Given the description of an element on the screen output the (x, y) to click on. 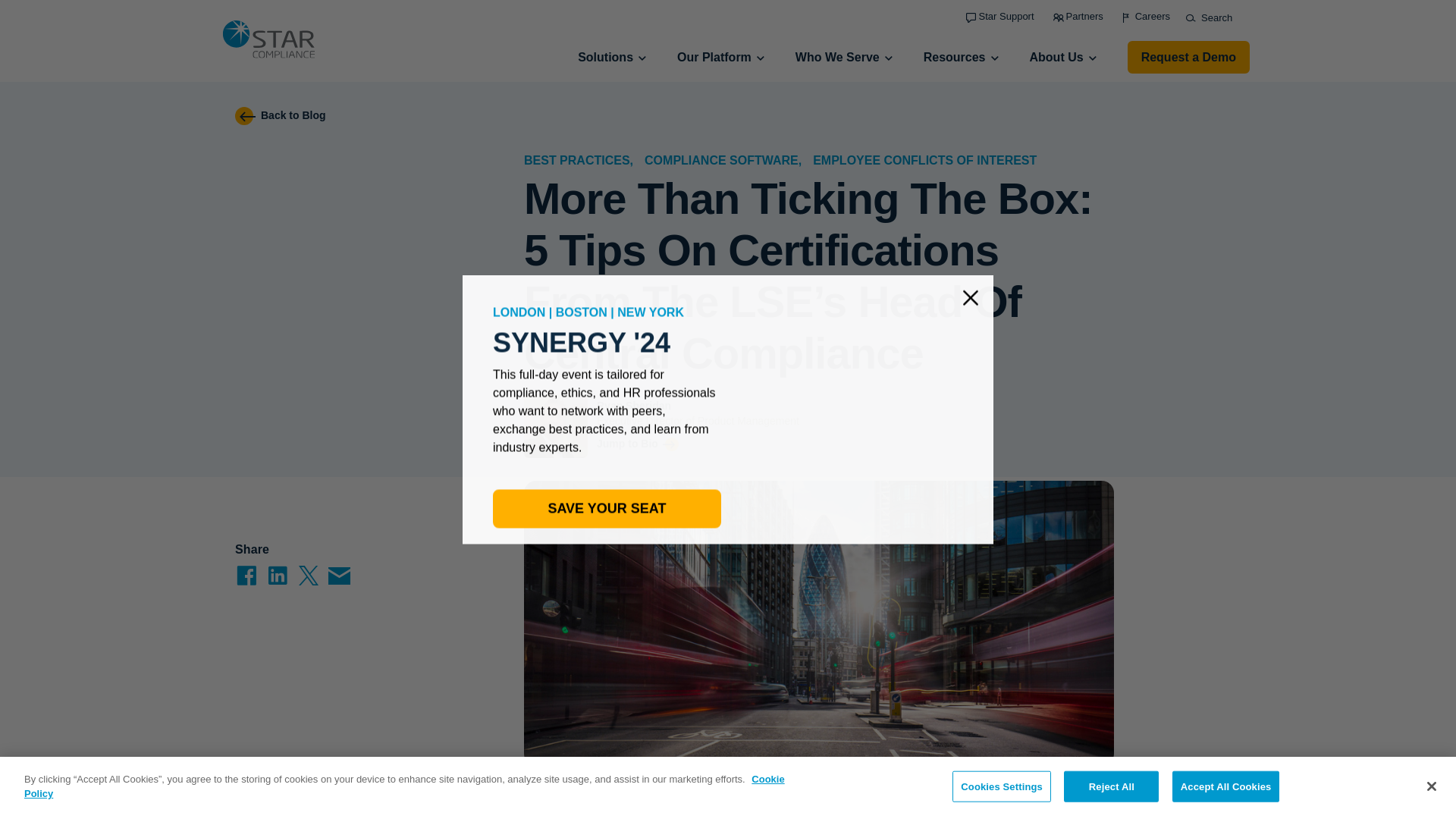
BACK (341, 115)
Private Investments (348, 276)
Employee Training (579, 187)
Share via Email (339, 575)
Policy Management (579, 164)
Political Donations (348, 346)
Insider Trading Detection (351, 371)
Employee Conflicts of Interest (381, 206)
Careers (1146, 16)
Crypto Pre-Clearance (348, 252)
Star Support (999, 16)
BACK (579, 132)
Individual Accountability Regime (832, 140)
BACK (811, 132)
Share on LinkedIn (277, 575)
